Given the description of an element on the screen output the (x, y) to click on. 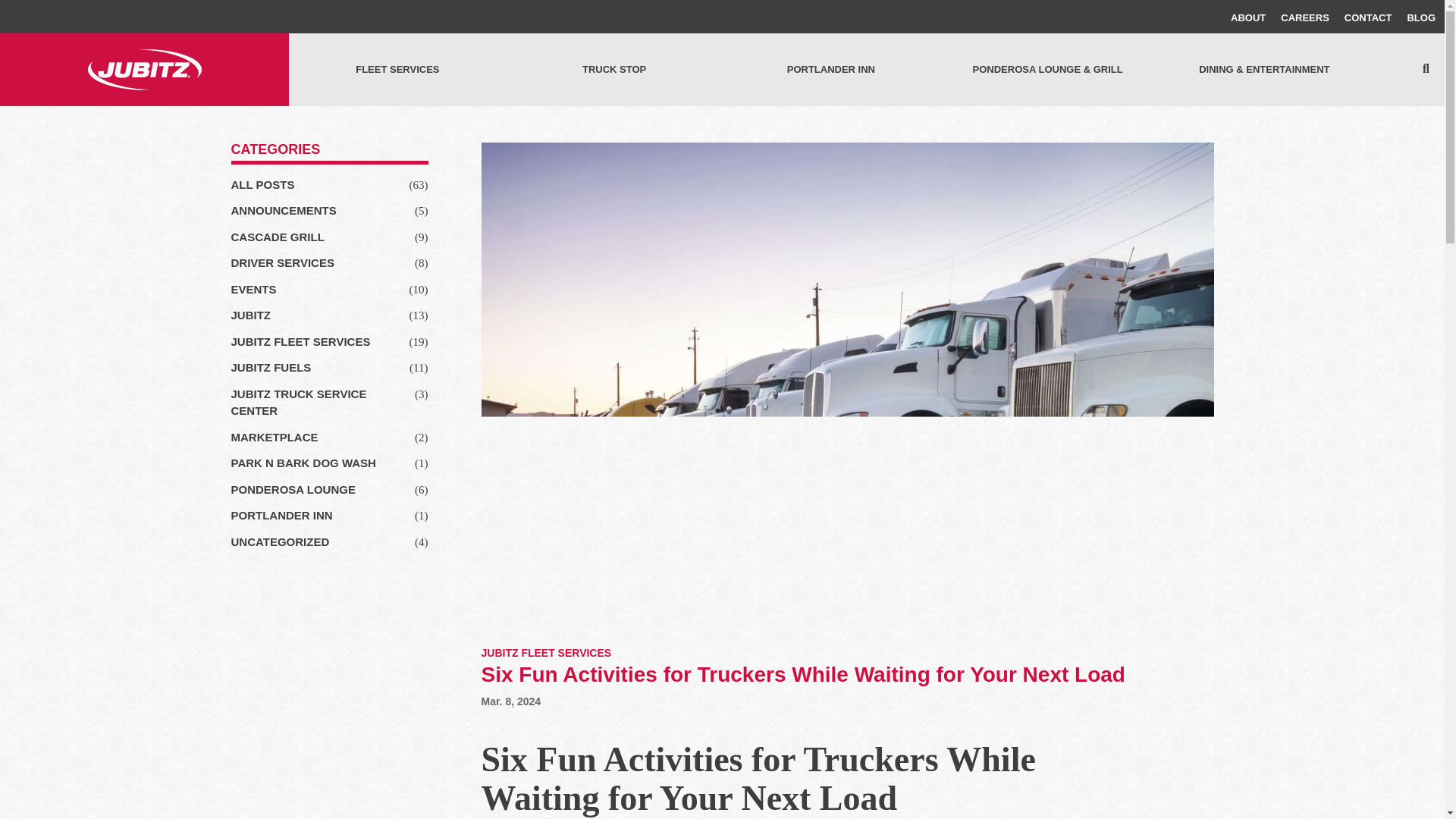
BLOG (1420, 17)
PORTLANDER INN (830, 69)
ALL POSTS (262, 184)
DRIVER SERVICES (281, 262)
ABOUT (1247, 17)
TRUCK STOP (613, 69)
FLEET SERVICES (396, 69)
CONTACT (1367, 17)
ANNOUNCEMENTS (283, 210)
Homepage (144, 69)
CASCADE GRILL (276, 236)
CAREERS (1305, 17)
